Given the description of an element on the screen output the (x, y) to click on. 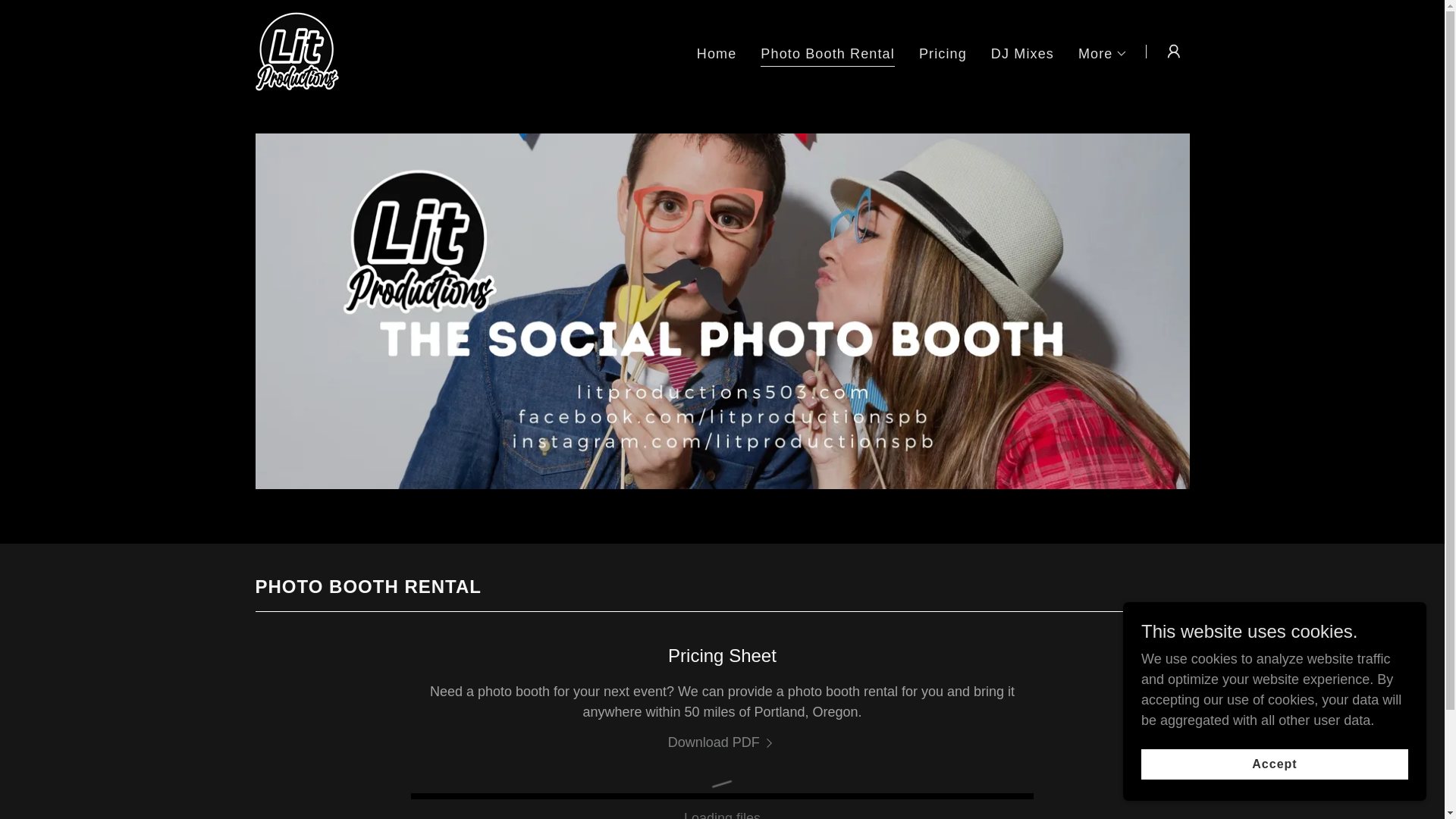
DJ Mixes (1022, 52)
Photo Booth Rental (827, 55)
More (1103, 53)
Pricing (942, 52)
Home (717, 52)
Download PDF (722, 742)
